Given the description of an element on the screen output the (x, y) to click on. 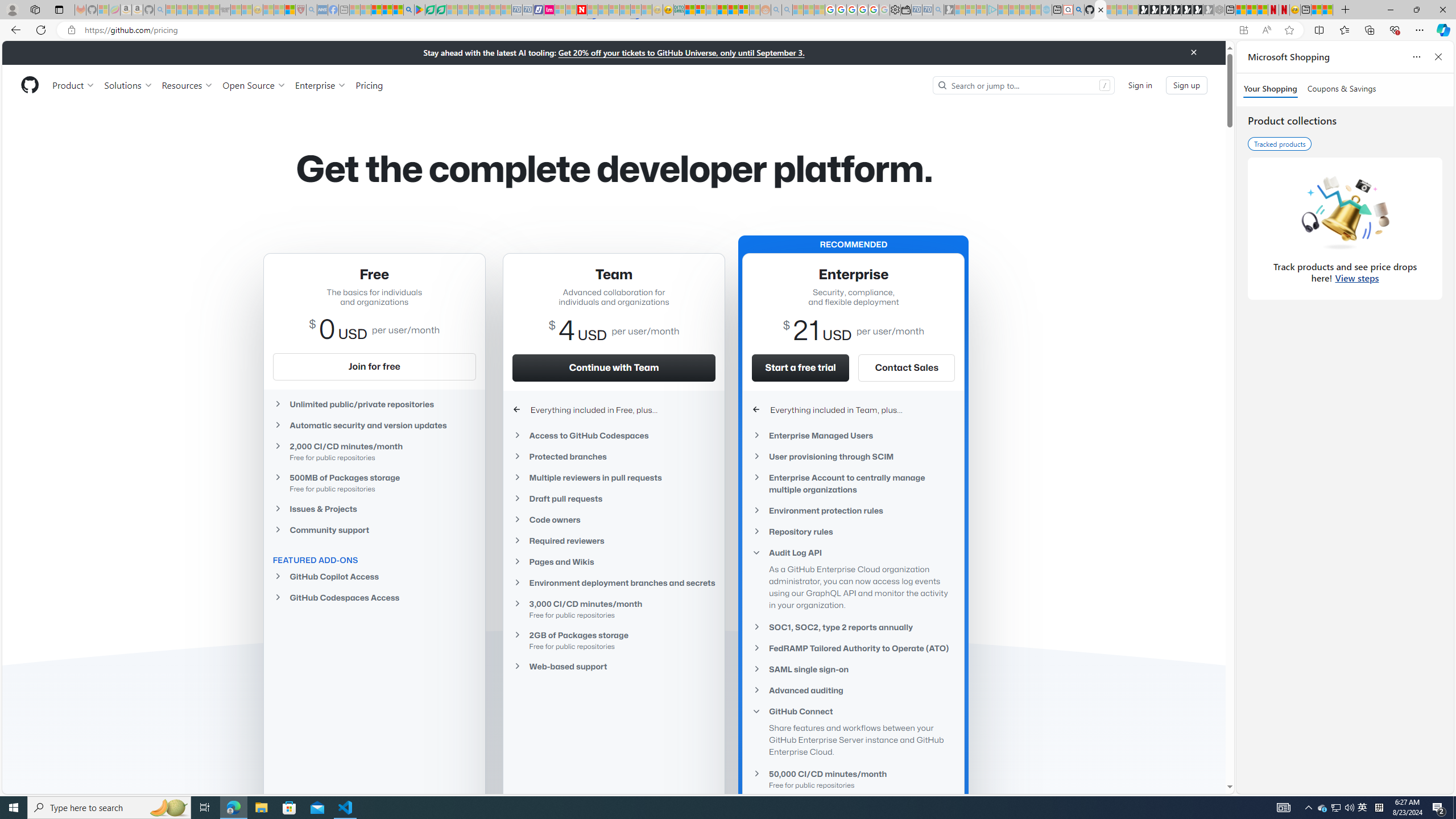
FedRAMP Tailored Authority to Operate (ATO) (853, 648)
Code owners (614, 519)
2,000 CI/CD minutes/monthFree for public repositories (374, 450)
GitHub Codespaces Access (374, 597)
Wildlife - MSN (1316, 9)
Product (74, 84)
Terms of Use Agreement (430, 9)
Issues & Projects (374, 508)
